Given the description of an element on the screen output the (x, y) to click on. 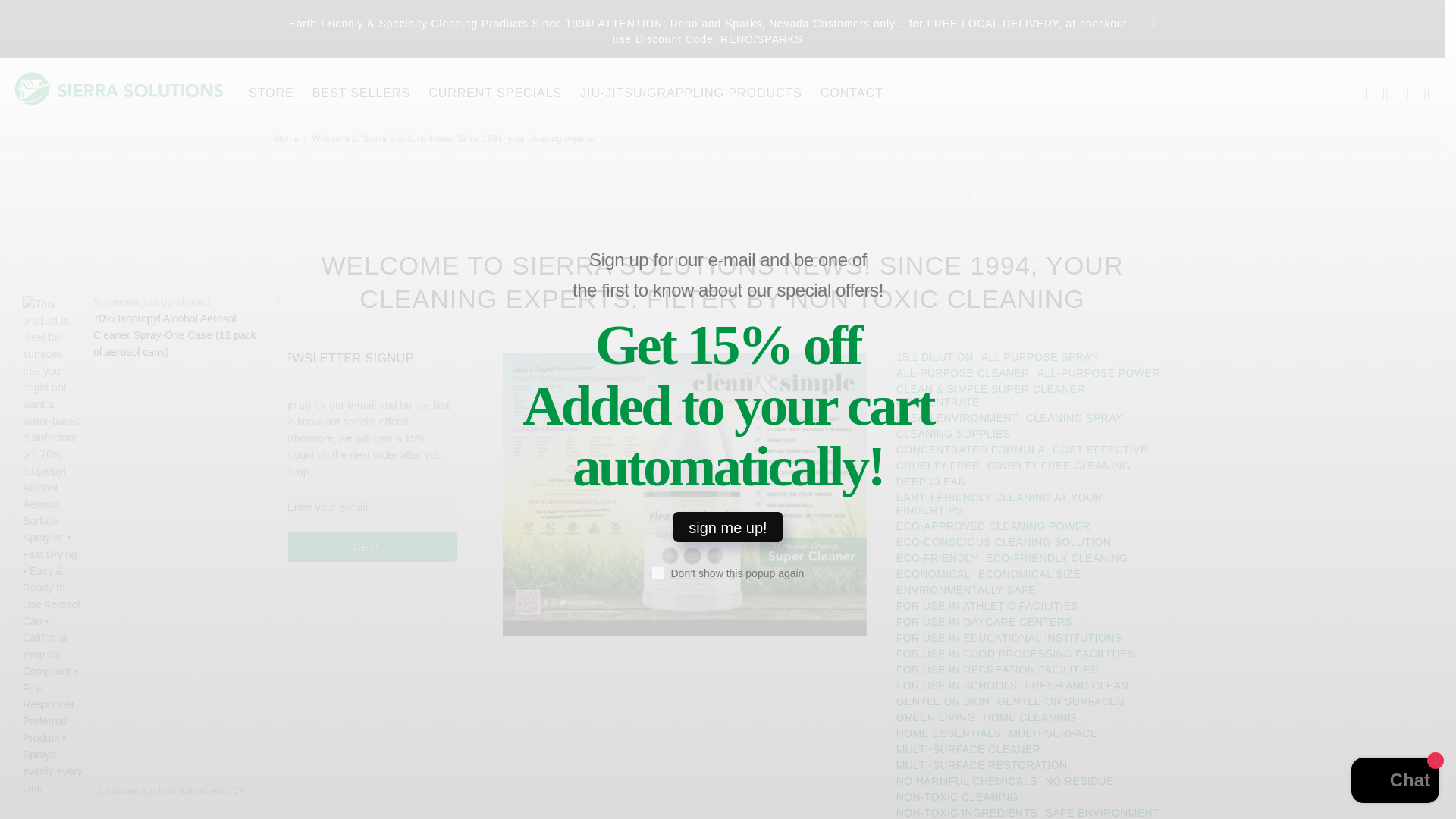
Show articles tagged Cruelty-Free (938, 465)
Show articles tagged all purpose spray (1039, 357)
Show articles tagged 15:1 Dilution (934, 357)
Show articles tagged Concentrated Formula (970, 449)
Show articles tagged Cleaning Supplies (953, 433)
STORE (271, 93)
Show articles tagged Cost-Effective (1099, 449)
CURRENT SPECIALS (494, 93)
Show articles tagged Deep Clean (931, 481)
Show articles tagged Cruelty-Free Cleaning (1059, 465)
Show articles tagged All-Purpose Power (1098, 373)
Show articles tagged All-Purpose Cleaner (962, 373)
BEST SELLERS (361, 93)
Show articles tagged cleaning spray (1074, 417)
